Given the description of an element on the screen output the (x, y) to click on. 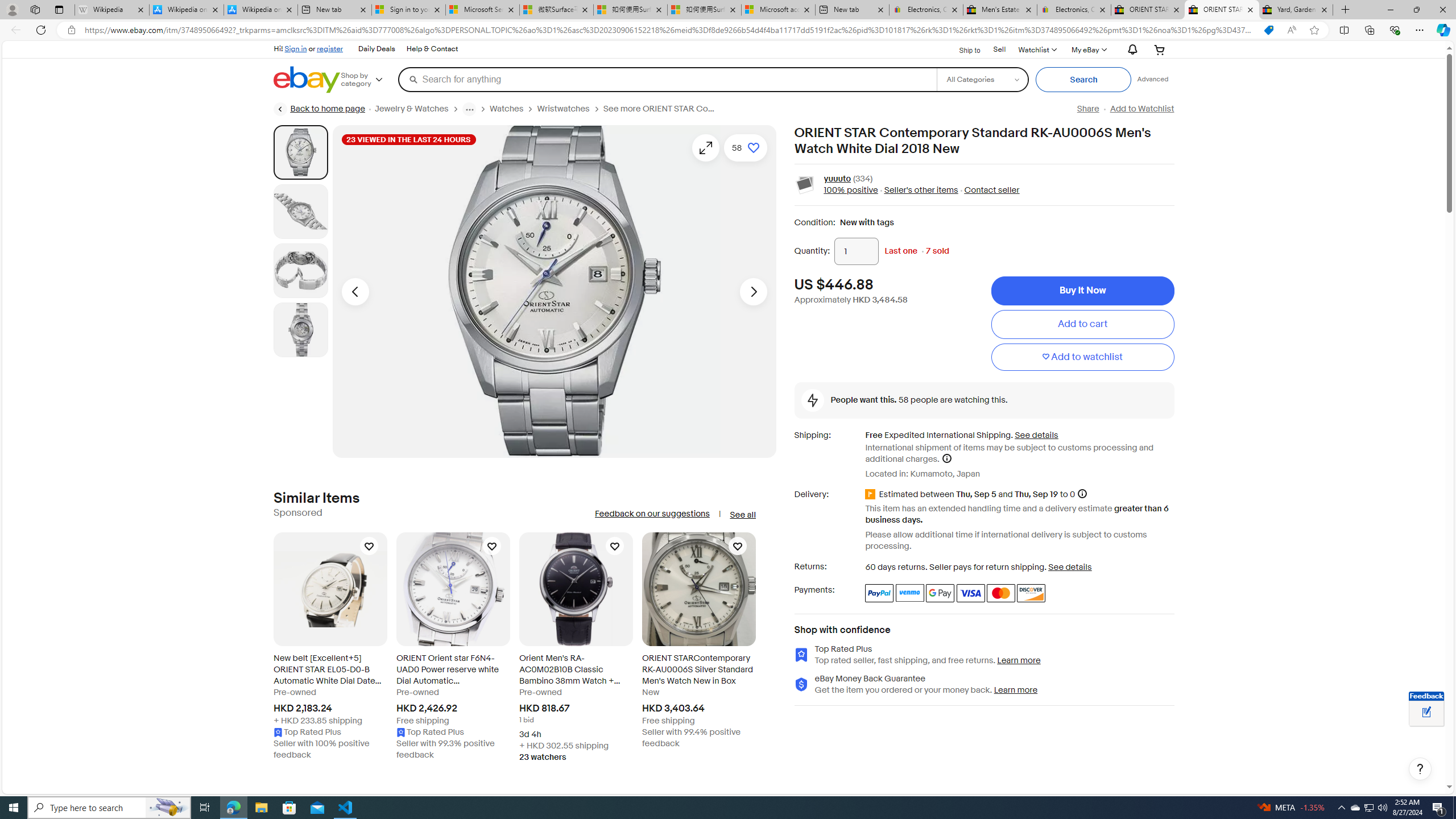
  Seller's other items (917, 190)
Add to cart (1082, 324)
Ship to (962, 50)
Jewelry & Watches (418, 108)
Quantity: (856, 251)
Picture 3 of 4 (300, 270)
See details for shipping (1036, 434)
register (329, 48)
Picture 4 of 4 (300, 329)
yuuuto (837, 179)
Help, opens dialogs (1420, 768)
